Given the description of an element on the screen output the (x, y) to click on. 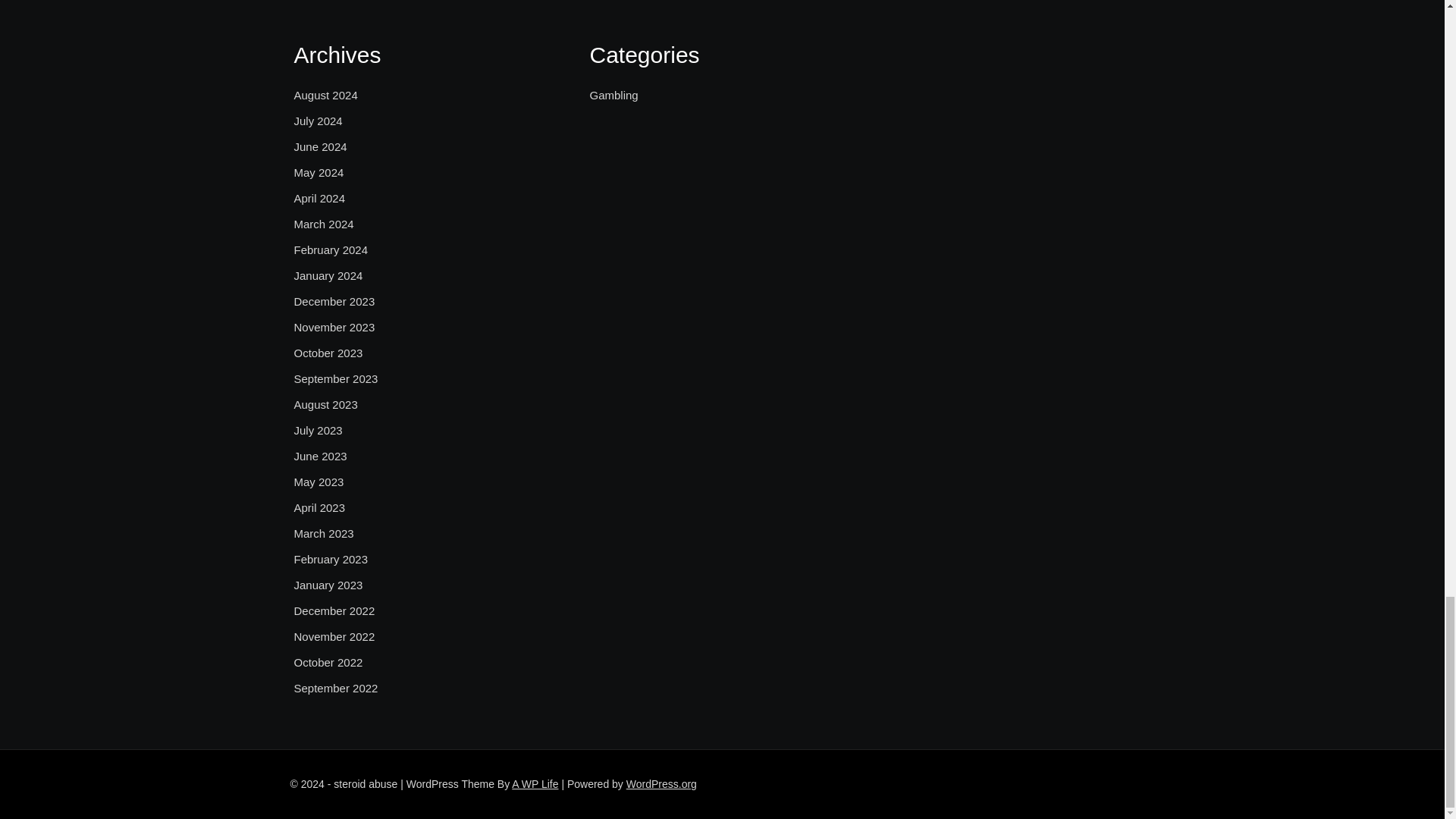
April 2024 (320, 198)
June 2024 (320, 147)
September 2023 (336, 379)
November 2023 (334, 327)
March 2024 (323, 224)
October 2023 (328, 352)
May 2024 (318, 172)
December 2023 (334, 301)
February 2024 (331, 249)
August 2024 (326, 95)
